Given the description of an element on the screen output the (x, y) to click on. 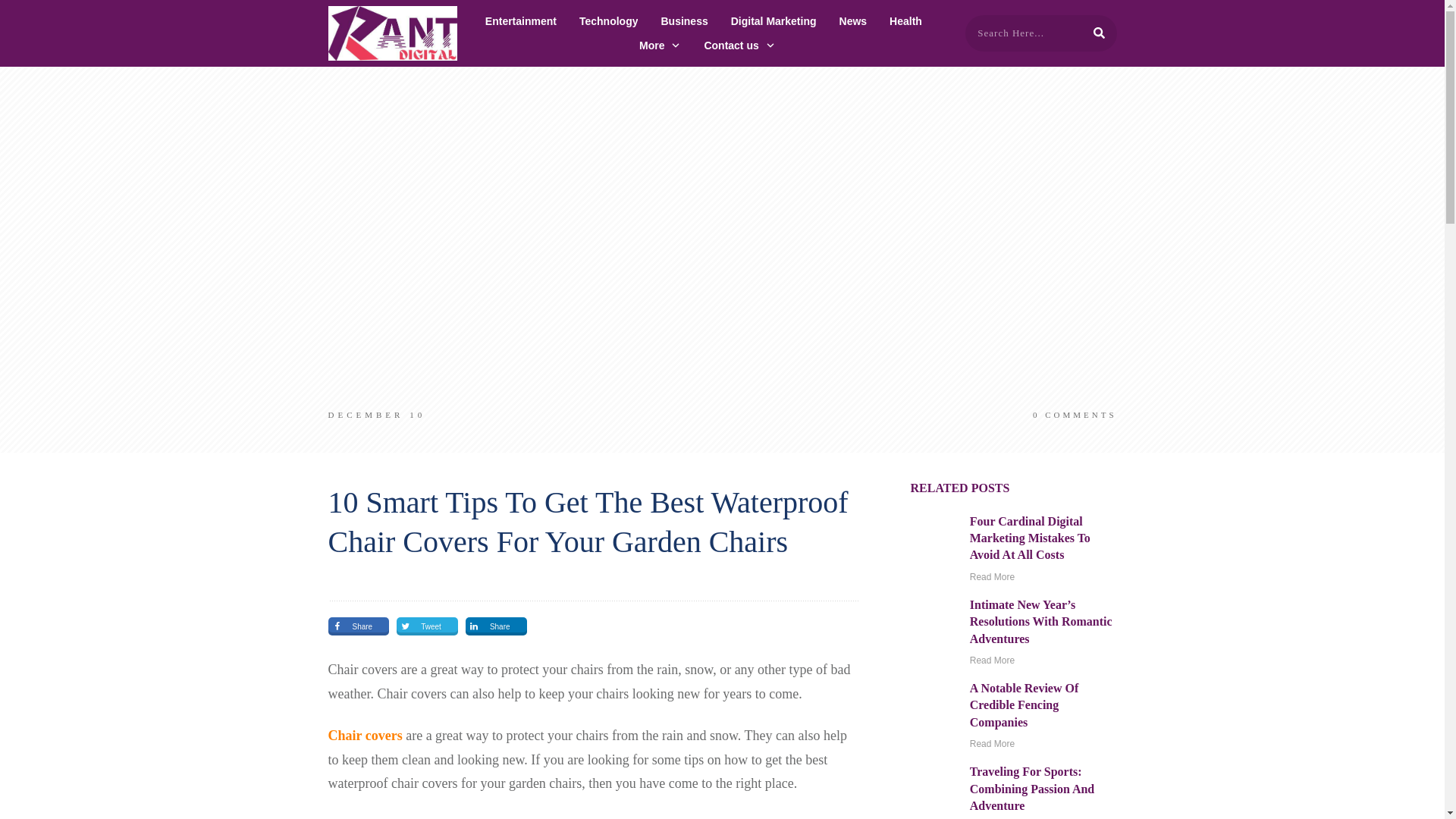
Health (905, 20)
Contact us (738, 45)
Business (684, 20)
News (853, 20)
A Notable Review of Credible Fencing Companies (1023, 704)
More (660, 45)
Share (357, 626)
Technology (609, 20)
